Given the description of an element on the screen output the (x, y) to click on. 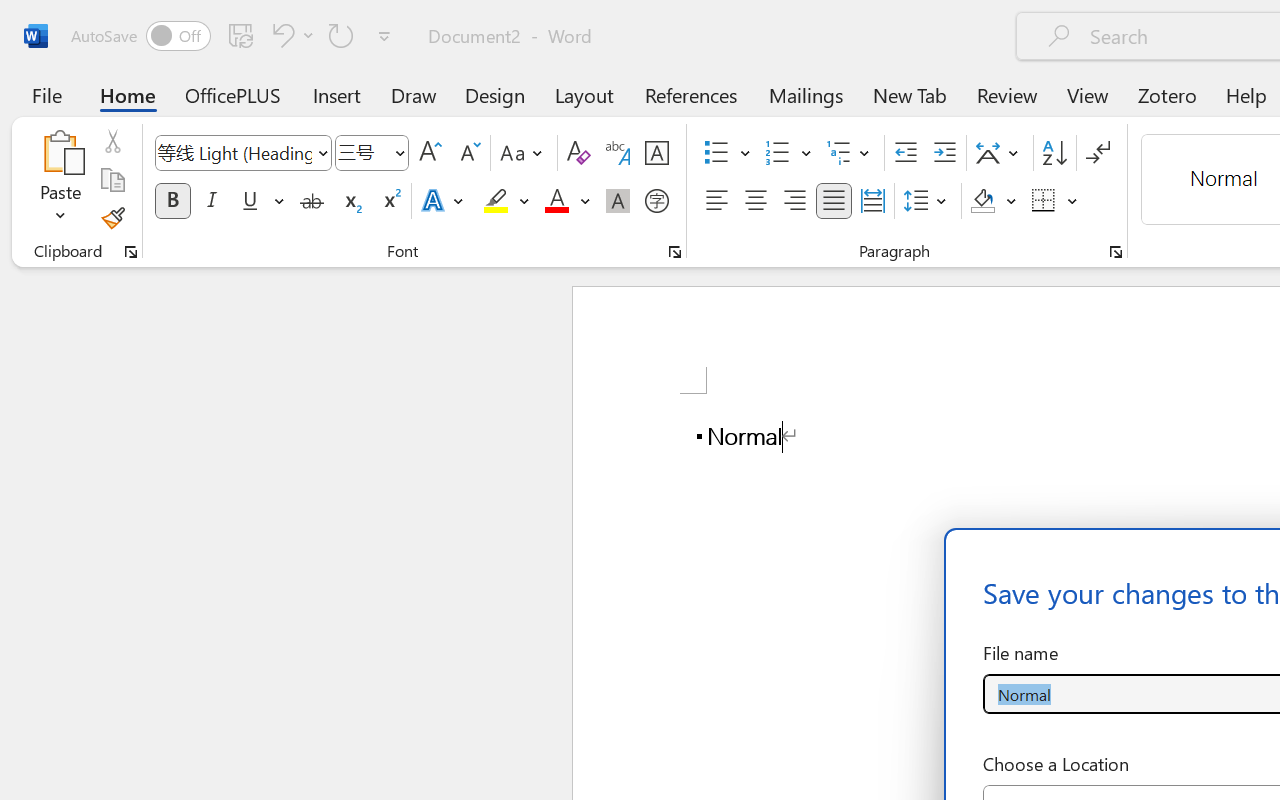
Character Shading (618, 201)
References (690, 94)
Enclose Characters... (656, 201)
Paste (60, 151)
Shading RGB(0, 0, 0) (982, 201)
Format Painter (112, 218)
Layout (584, 94)
Bullets (716, 153)
Customize Quick Access Toolbar (384, 35)
Font (234, 152)
Align Right (794, 201)
Distributed (872, 201)
New Tab (909, 94)
View (1087, 94)
